Given the description of an element on the screen output the (x, y) to click on. 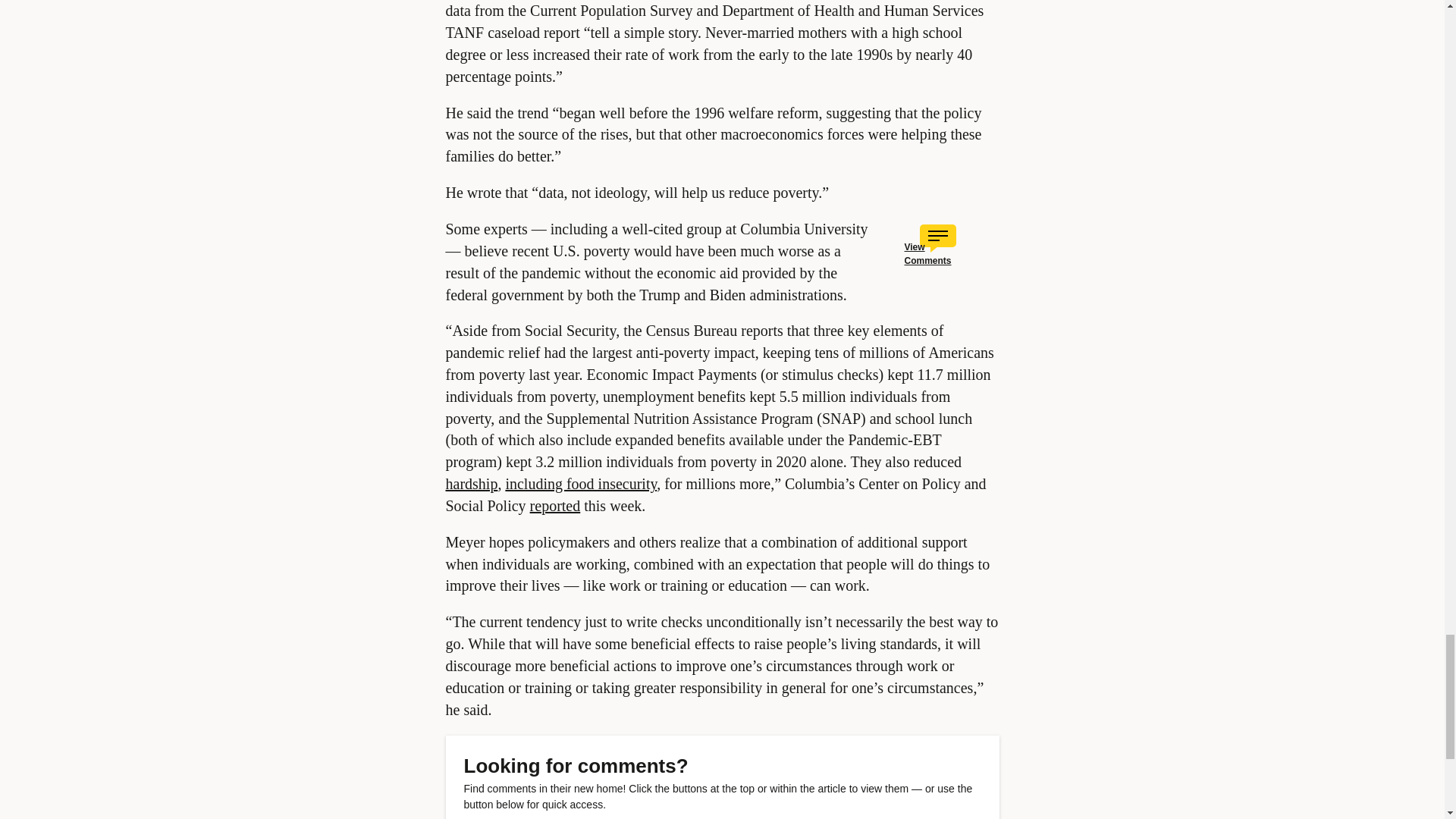
hardship (471, 483)
reported (554, 505)
including food insecurity (580, 483)
